Given the description of an element on the screen output the (x, y) to click on. 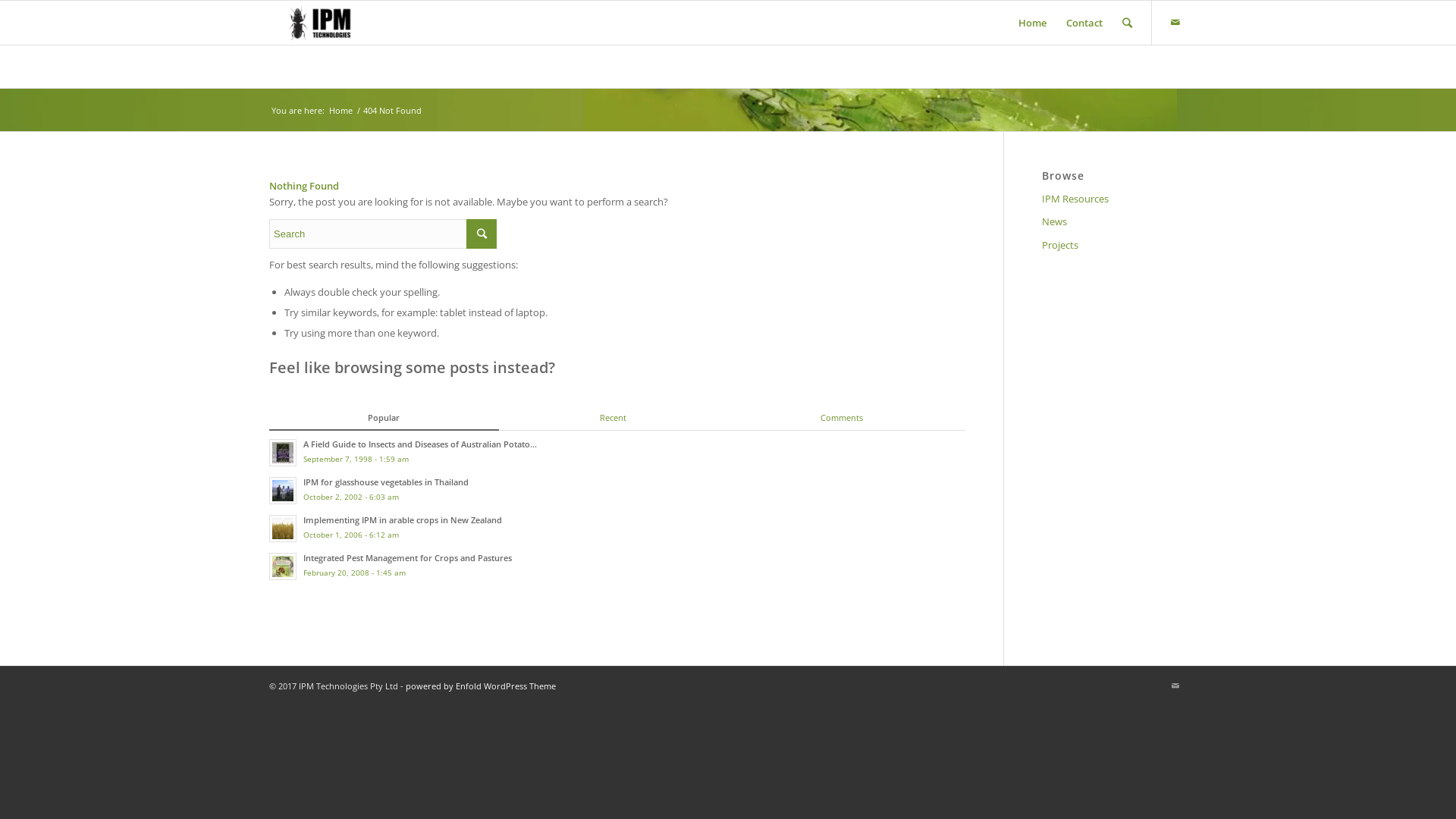
News Element type: text (1113, 221)
Home Element type: text (340, 110)
powered by Enfold WordPress Theme Element type: text (480, 685)
Contact Element type: text (1084, 22)
IPM Resources Element type: text (1113, 199)
Mail Element type: hover (1175, 685)
Mail Element type: hover (1175, 21)
Projects Element type: text (1113, 245)
Home Element type: text (1032, 22)
